Given the description of an element on the screen output the (x, y) to click on. 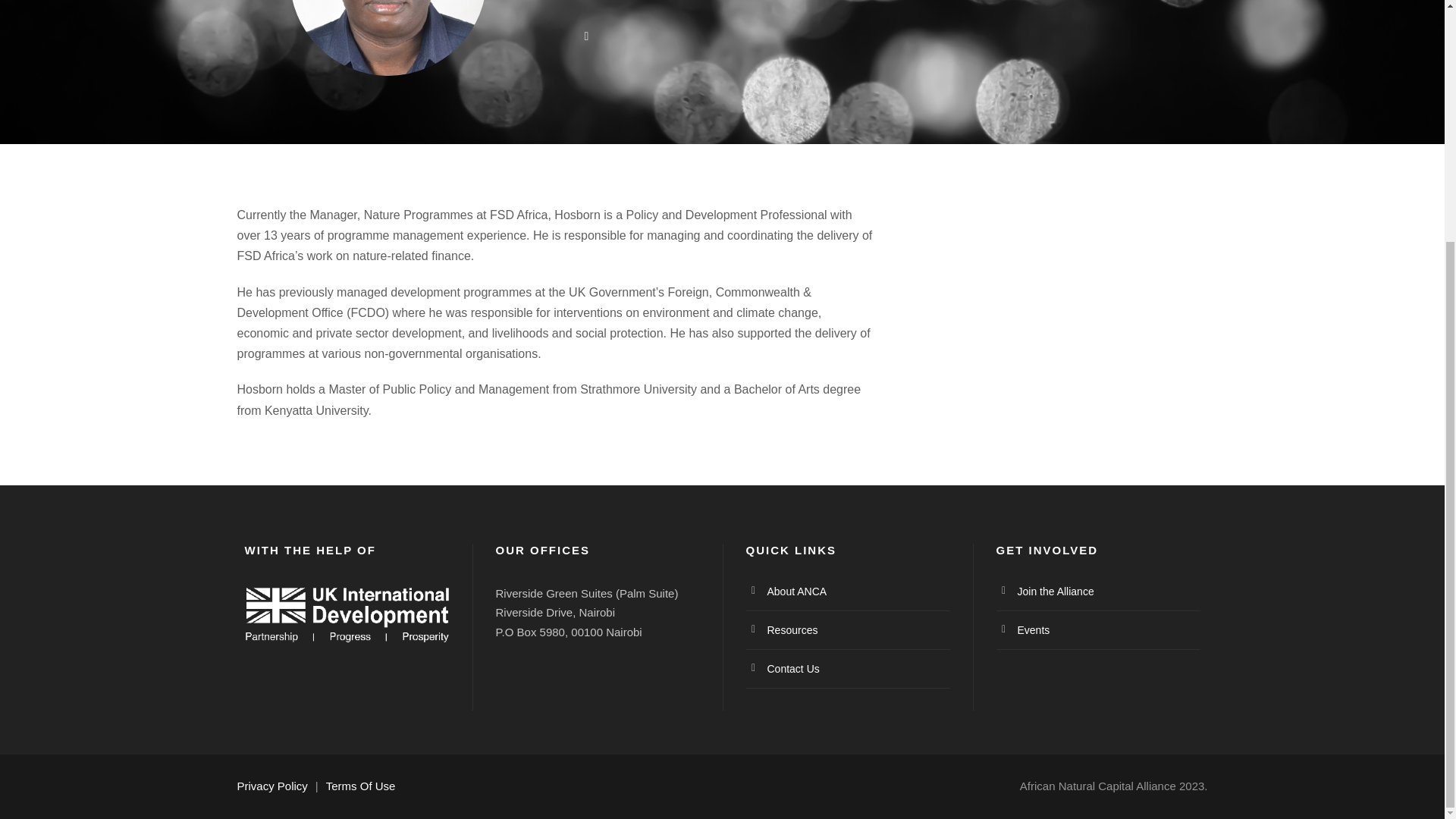
Events (1033, 630)
Join the Alliance (1055, 591)
hosbo11 (387, 38)
Contact Us (793, 668)
Terms Of Use (361, 785)
Resources (792, 630)
Privacy Policy (271, 785)
About ANCA (797, 591)
